Given the description of an element on the screen output the (x, y) to click on. 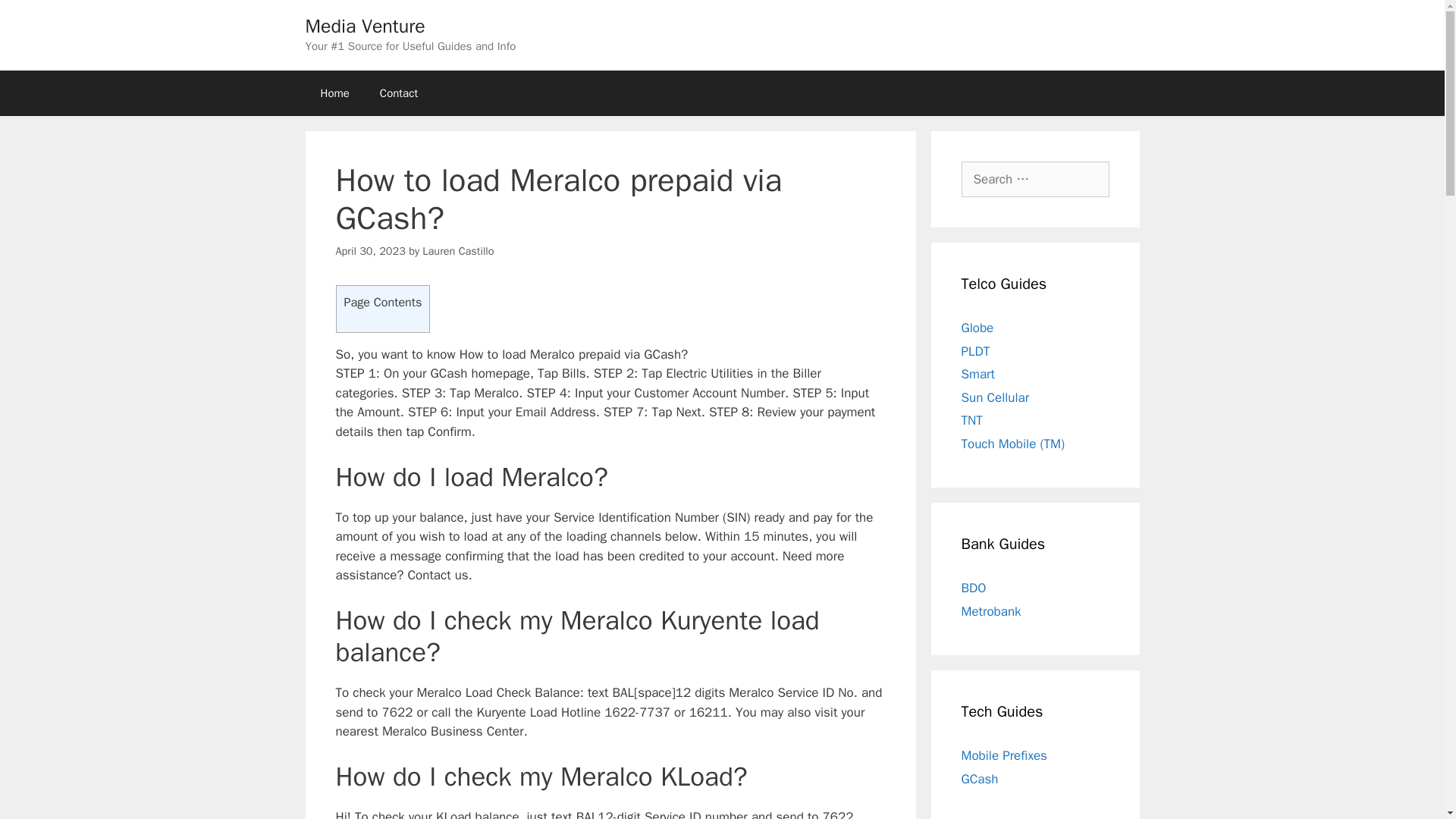
Media Venture (364, 25)
View all posts by Lauren Castillo (457, 250)
BDO (973, 587)
Mobile Prefixes (1003, 755)
Search for: (1034, 178)
Home (334, 92)
Lauren Castillo (457, 250)
Metrobank (991, 611)
PLDT (975, 350)
Contact (398, 92)
